Given the description of an element on the screen output the (x, y) to click on. 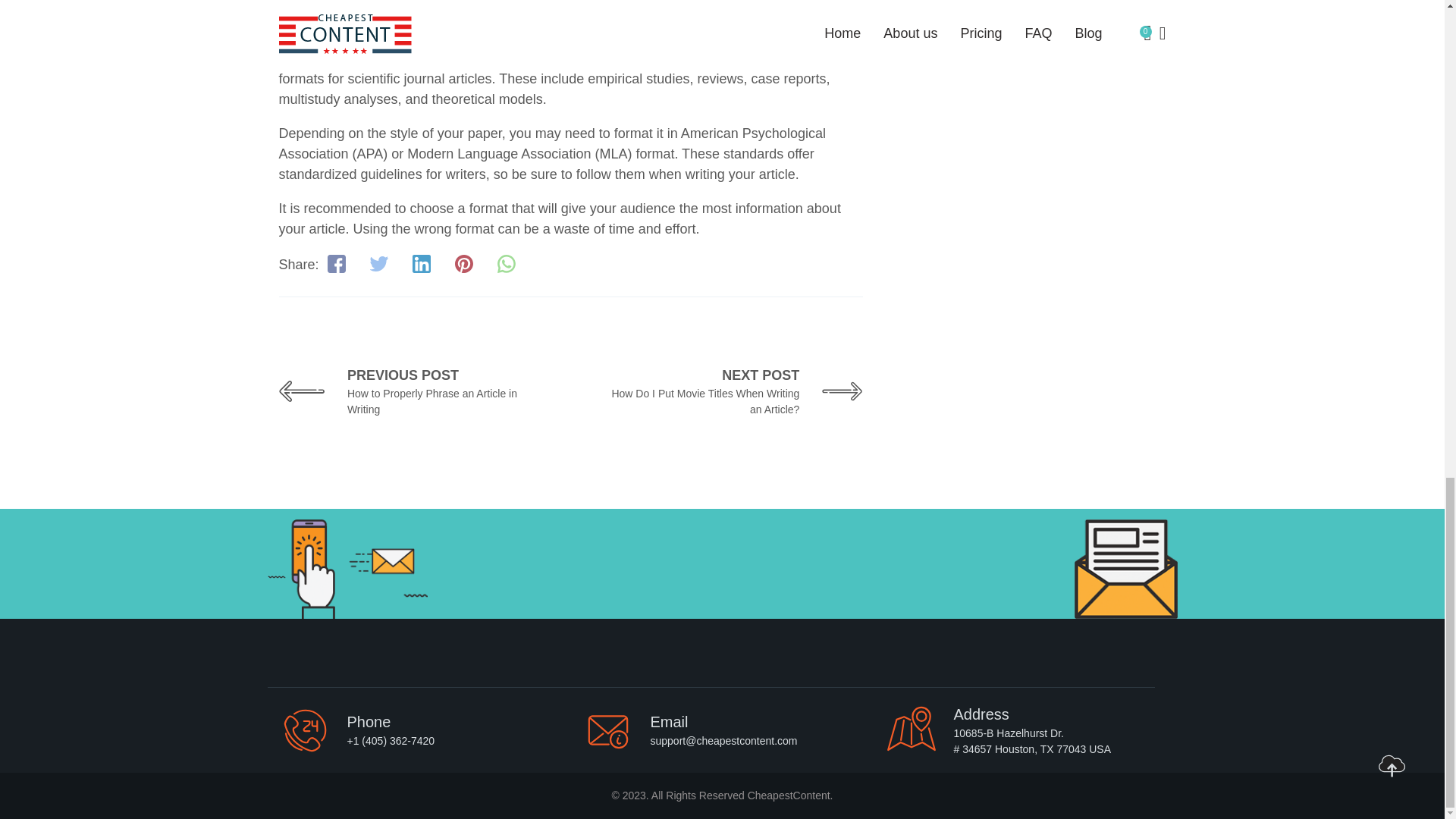
Phone (410, 391)
